Given the description of an element on the screen output the (x, y) to click on. 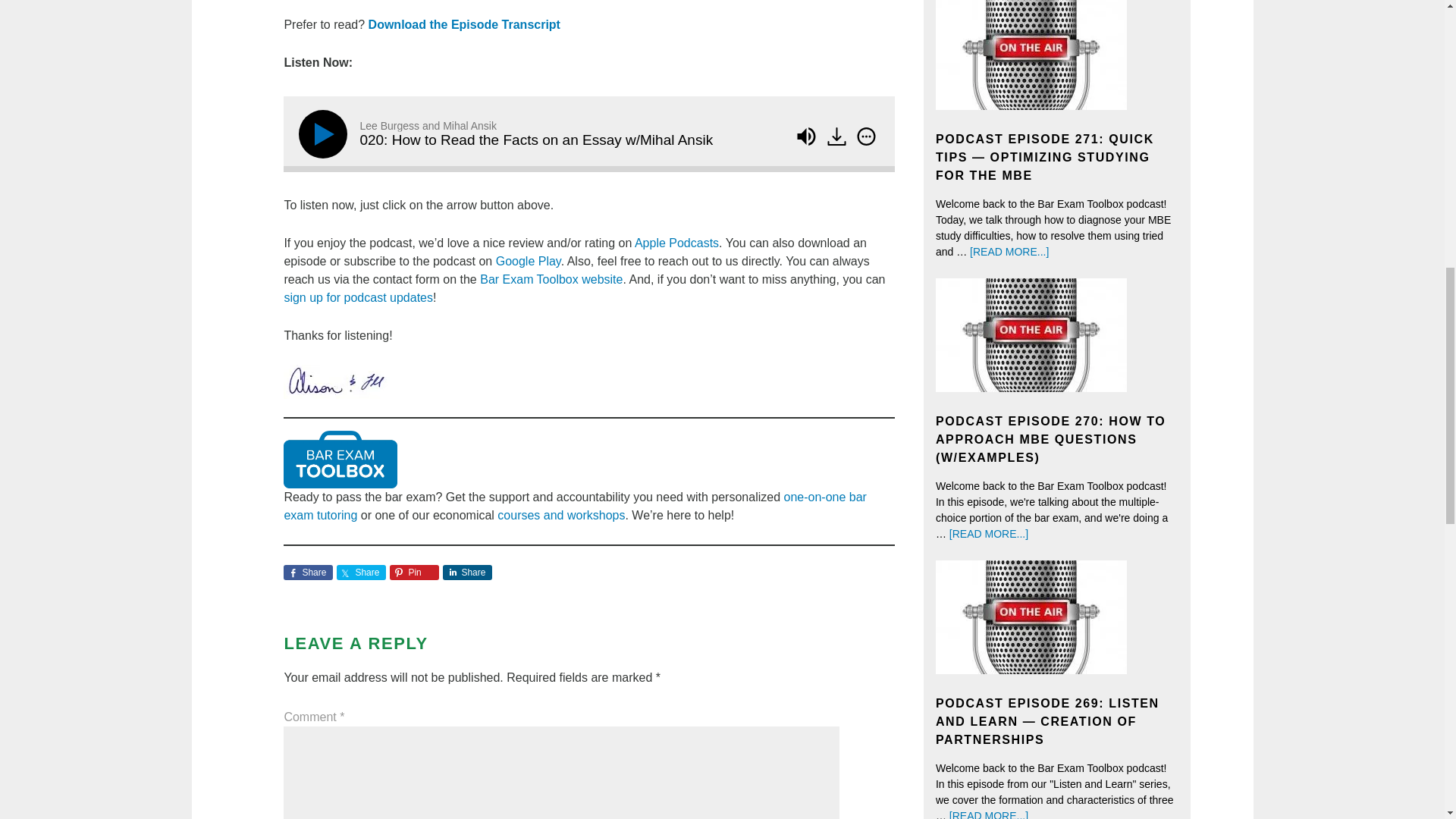
Download the Episode Transcript (464, 24)
More (866, 136)
Download (837, 136)
